Given the description of an element on the screen output the (x, y) to click on. 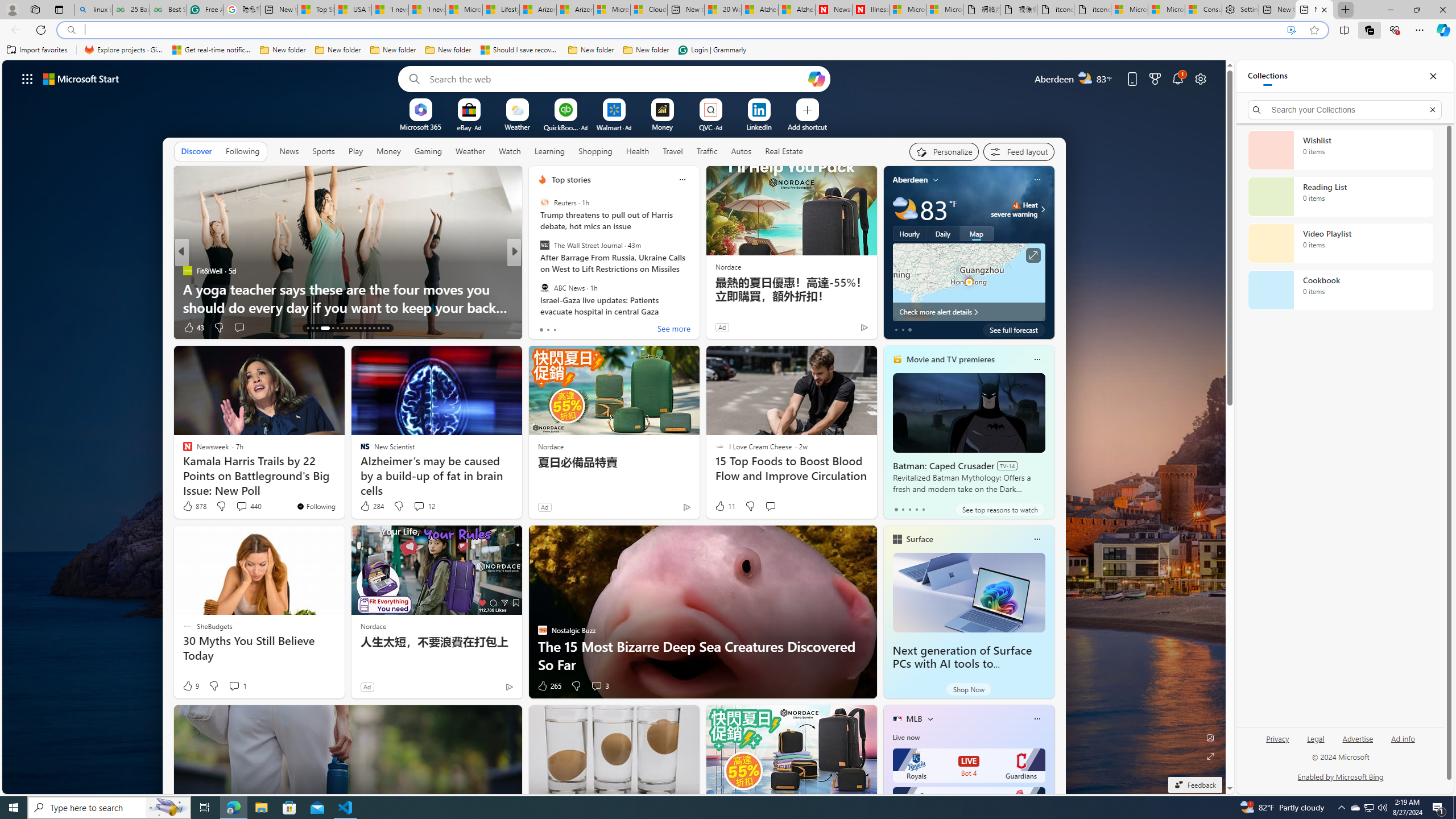
20 Ways to Boost Your Protein Intake at Every Meal (721, 9)
Favorites bar (728, 49)
Personalize your feed" (943, 151)
Gaming (428, 151)
Microsoft start (81, 78)
99 Like (543, 327)
AutomationID: tab-16 (324, 328)
AutomationID: tab-26 (374, 328)
300 Like (545, 327)
Gaming (428, 151)
ABC News (544, 287)
AutomationID: tab-13 (307, 328)
